Given the description of an element on the screen output the (x, y) to click on. 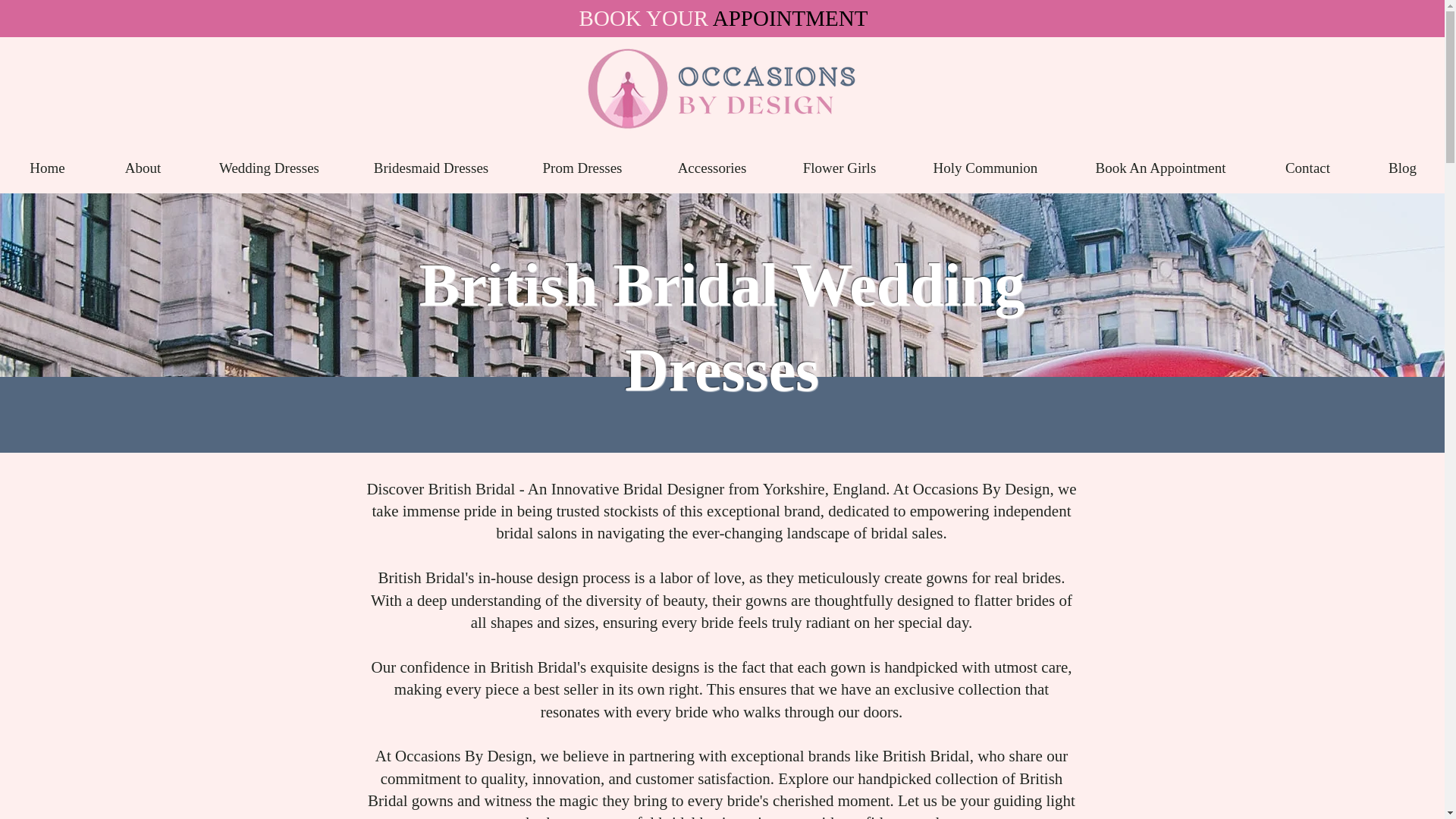
Bridesmaid Dresses (431, 168)
Book An Appointment (1160, 168)
Holy Communion (984, 168)
Home (47, 168)
Flower Girls (839, 168)
Contact (1307, 168)
Prom Dresses (582, 168)
BOOK YOUR APPOINTMENT (723, 17)
About (142, 168)
Wedding Dresses (268, 168)
Accessories (711, 168)
